Given the description of an element on the screen output the (x, y) to click on. 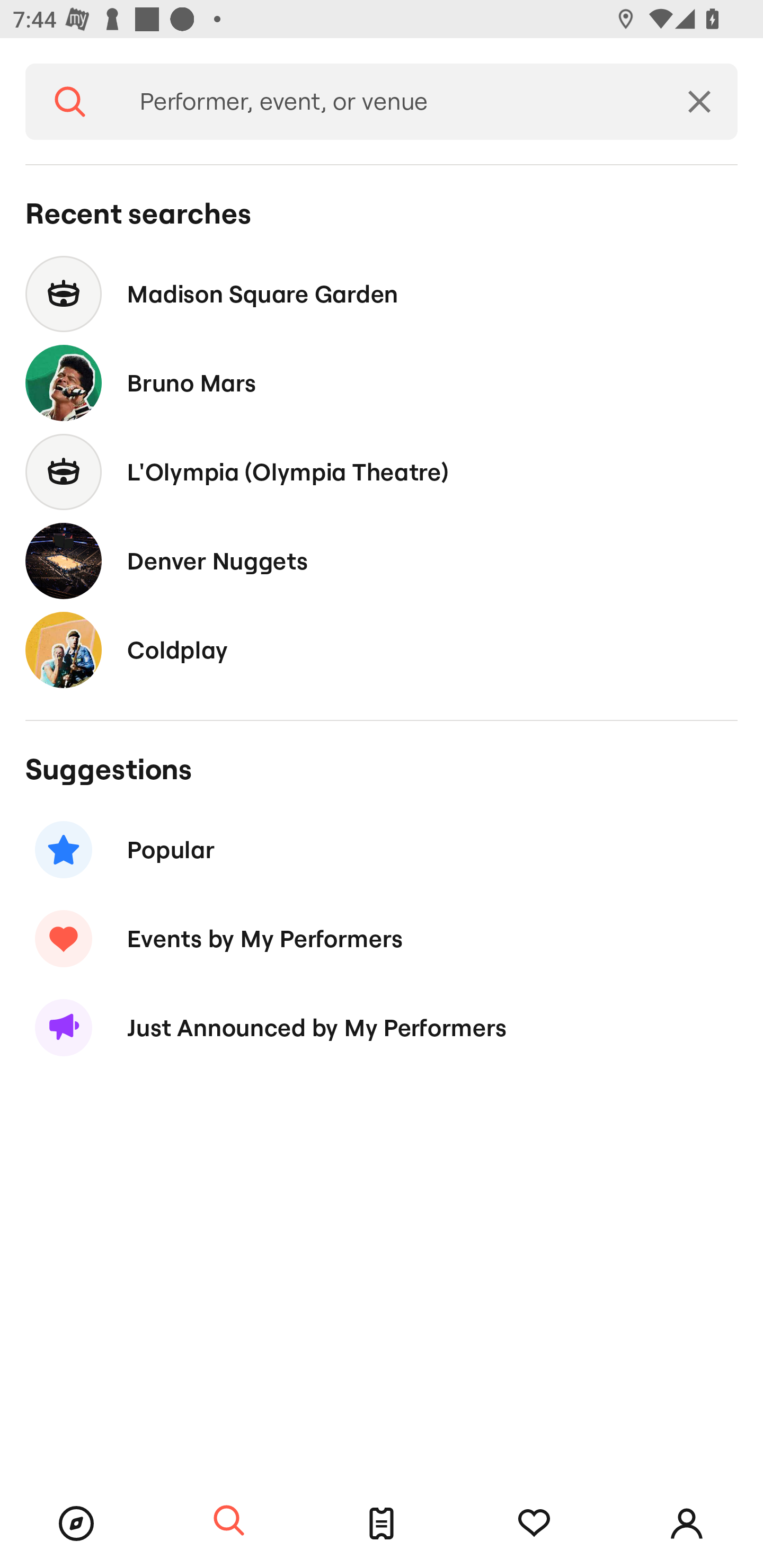
Search (69, 101)
Performer, event, or venue (387, 101)
Clear (699, 101)
Madison Square Garden (381, 293)
Bruno Mars (381, 383)
L'Olympia (Olympia Theatre) (381, 471)
Denver Nuggets (381, 560)
Coldplay (381, 649)
Popular (381, 849)
Events by My Performers (381, 938)
Just Announced by My Performers (381, 1027)
Browse (76, 1523)
Search (228, 1521)
Tickets (381, 1523)
Tracking (533, 1523)
Account (686, 1523)
